Given the description of an element on the screen output the (x, y) to click on. 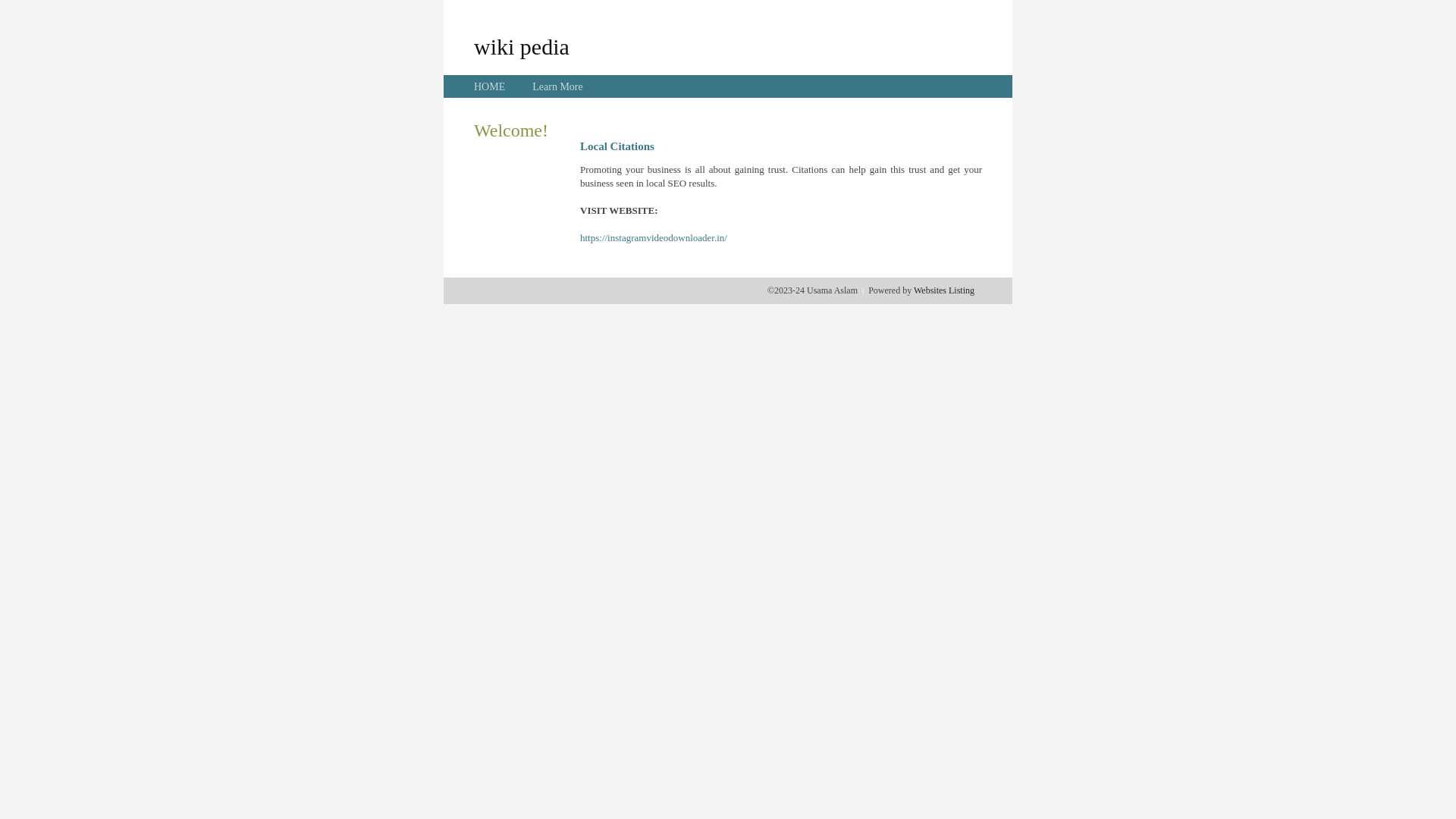
HOME Element type: text (489, 86)
Websites Listing Element type: text (943, 290)
Learn More Element type: text (557, 86)
wiki pedia Element type: text (521, 46)
https://instagramvideodownloader.in/ Element type: text (653, 237)
